Given the description of an element on the screen output the (x, y) to click on. 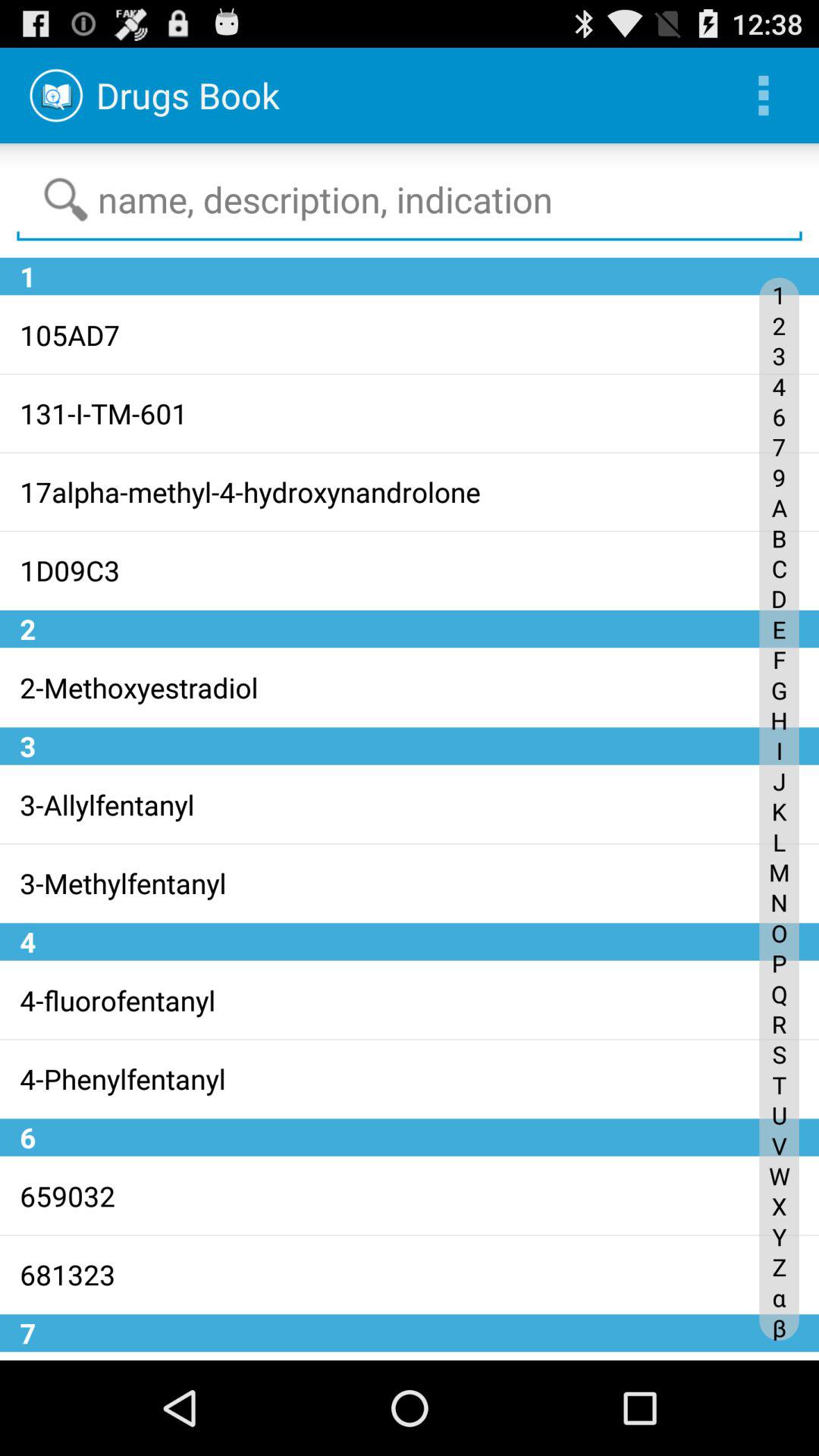
write name or description (409, 200)
